Given the description of an element on the screen output the (x, y) to click on. 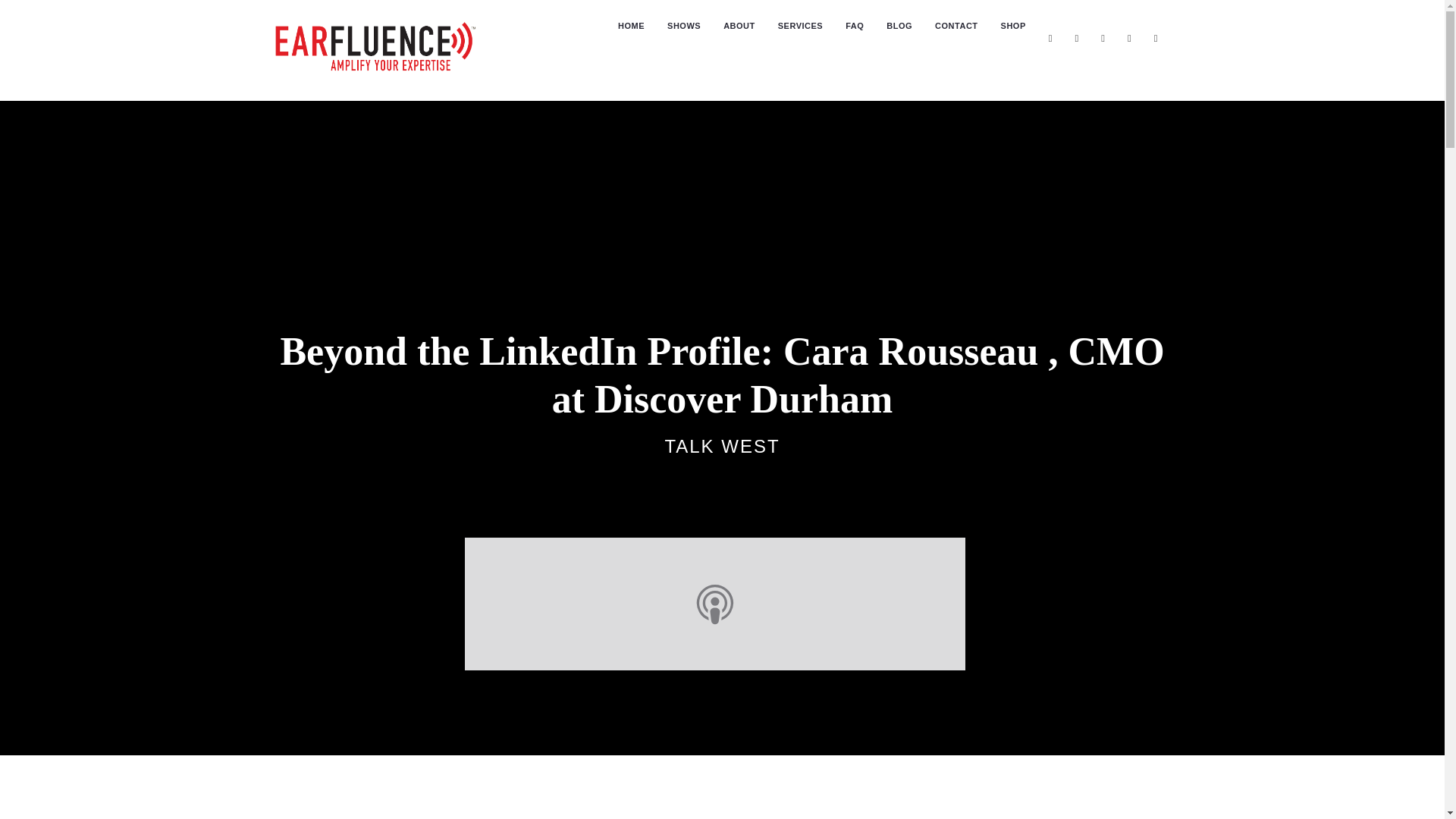
Contact Earfluence for Podcast Production or Consulting (955, 26)
Podcast Production and Digital Marketing Services (800, 26)
Full Service Podcast Production for Businesses (631, 26)
HOME (631, 26)
TALK WEST (720, 445)
BLOG (899, 26)
ABOUT (739, 26)
CONTACT (955, 26)
Meet the Earfluence Team (739, 26)
SHOP (1013, 26)
